Given the description of an element on the screen output the (x, y) to click on. 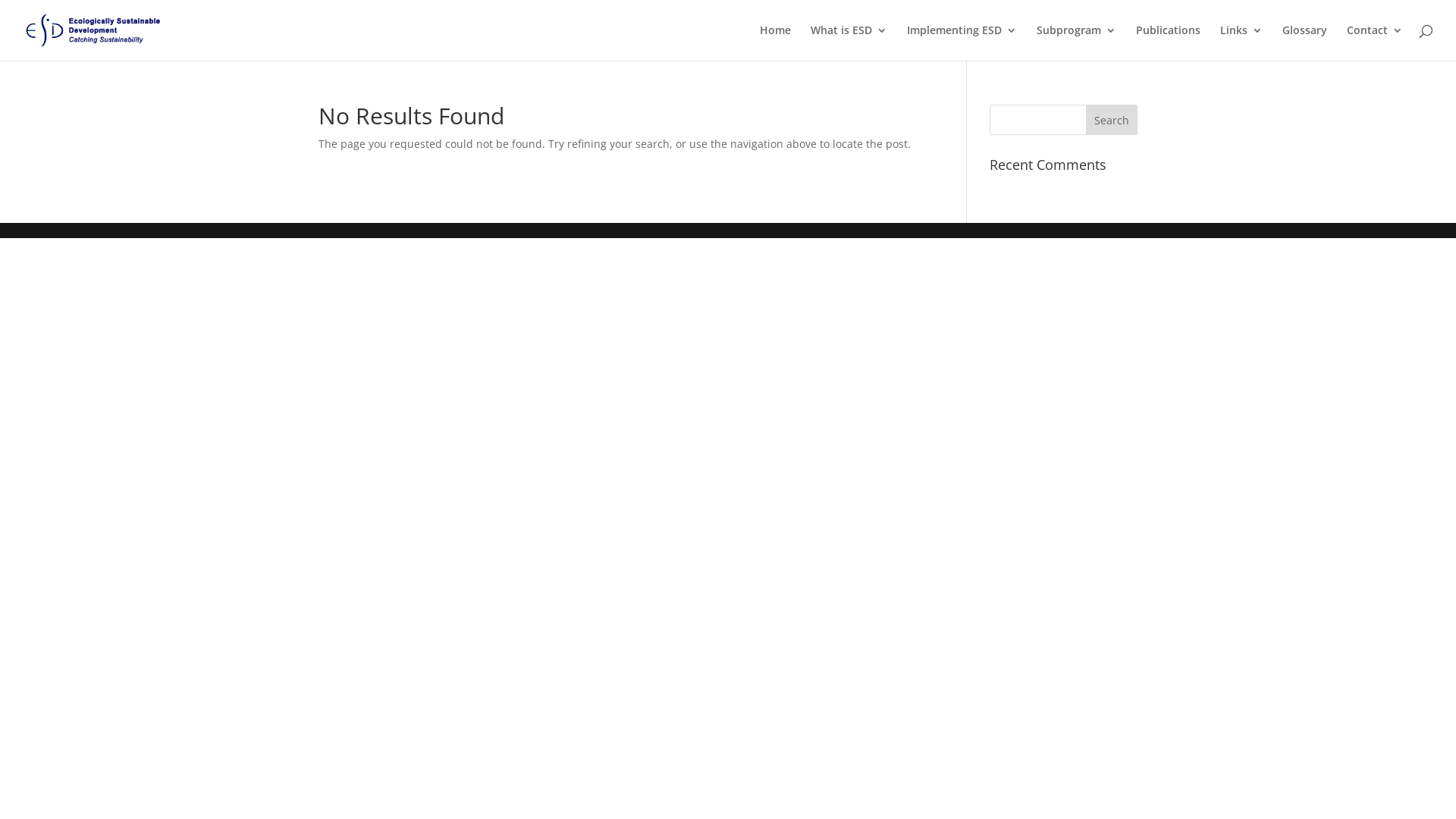
What is ESD Element type: text (848, 42)
Search Element type: text (1111, 119)
Contact Element type: text (1374, 42)
Subprogram Element type: text (1076, 42)
Glossary Element type: text (1304, 42)
Implementing ESD Element type: text (961, 42)
Publications Element type: text (1167, 42)
Links Element type: text (1241, 42)
Home Element type: text (774, 42)
